Given the description of an element on the screen output the (x, y) to click on. 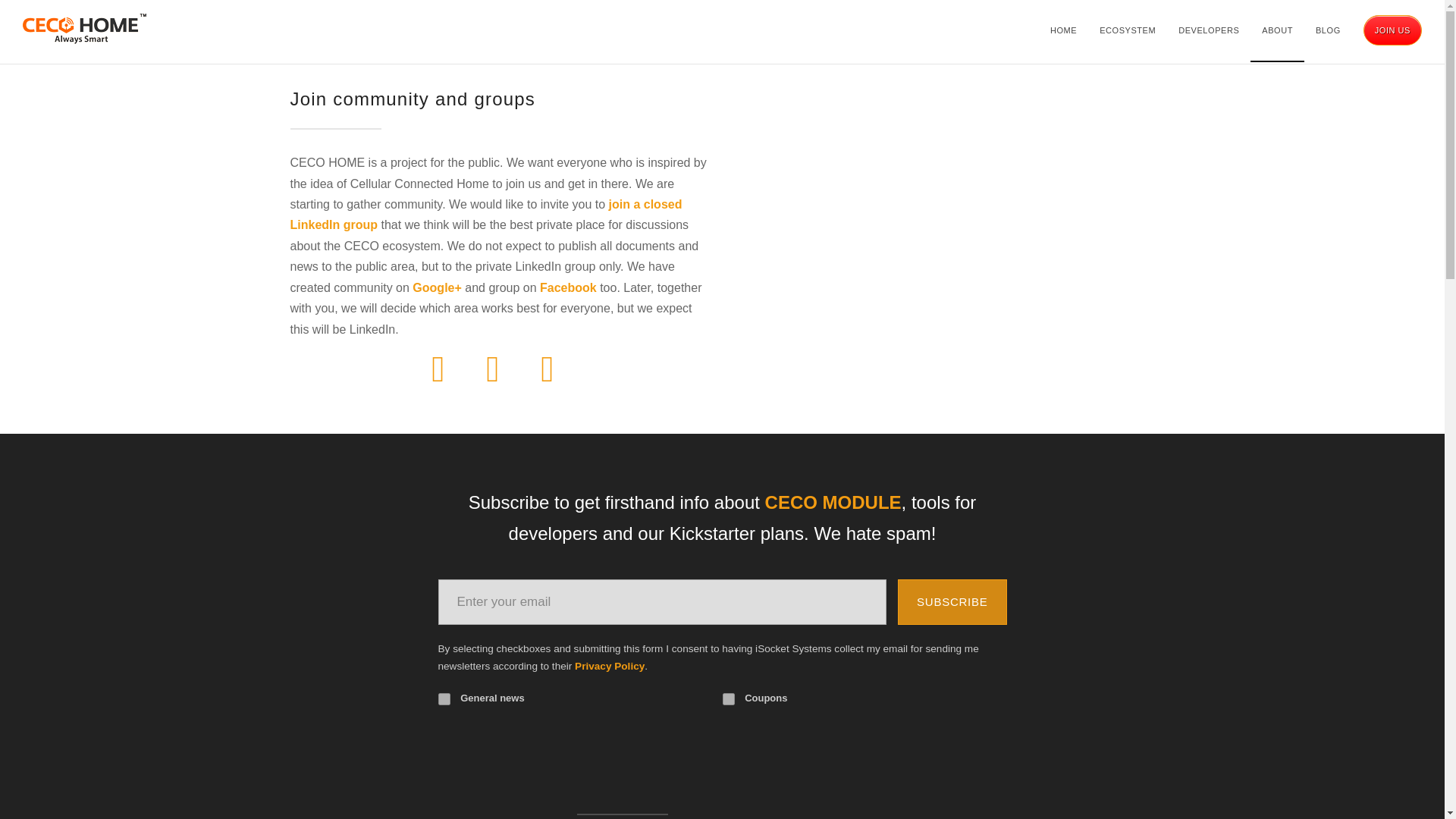
Facebook (568, 287)
DEVELOPERS (1208, 29)
SUBSCRIBE (952, 601)
join a closed LinkedIn group (485, 214)
on (727, 698)
BLOG (1328, 29)
JOIN US (1392, 30)
ABOUT (1277, 29)
ECOSYSTEM (1127, 29)
